Given the description of an element on the screen output the (x, y) to click on. 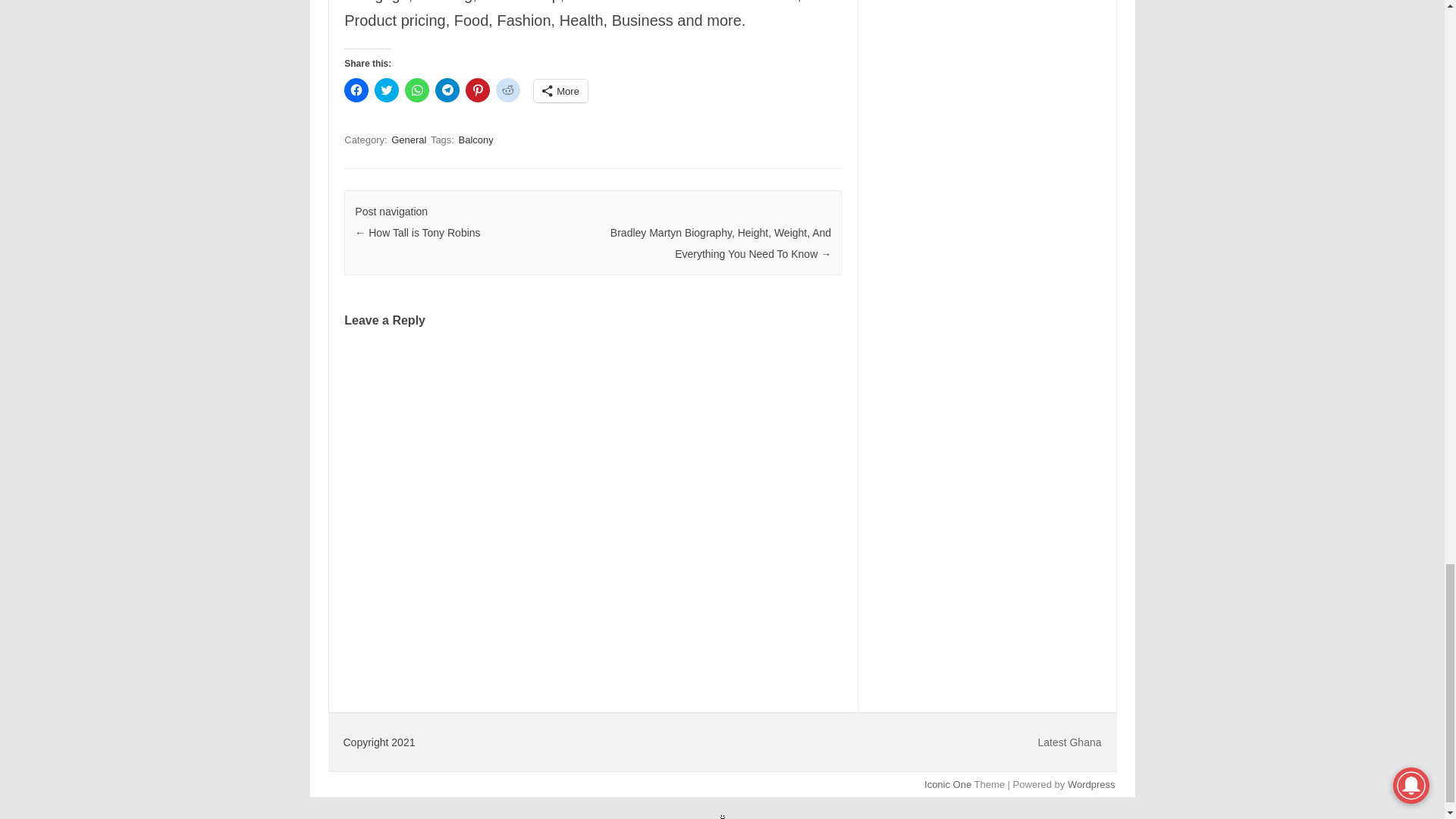
Click to share on Twitter (386, 89)
General (409, 139)
Click to share on Reddit (507, 89)
Latest Ghana (1068, 742)
Iconic One (947, 784)
Click to share on Facebook (355, 89)
Click to share on Pinterest (477, 89)
Wordpress (1091, 784)
Balcony (476, 139)
Click to share on Telegram (447, 89)
More (561, 90)
Click to share on WhatsApp (416, 89)
